Given the description of an element on the screen output the (x, y) to click on. 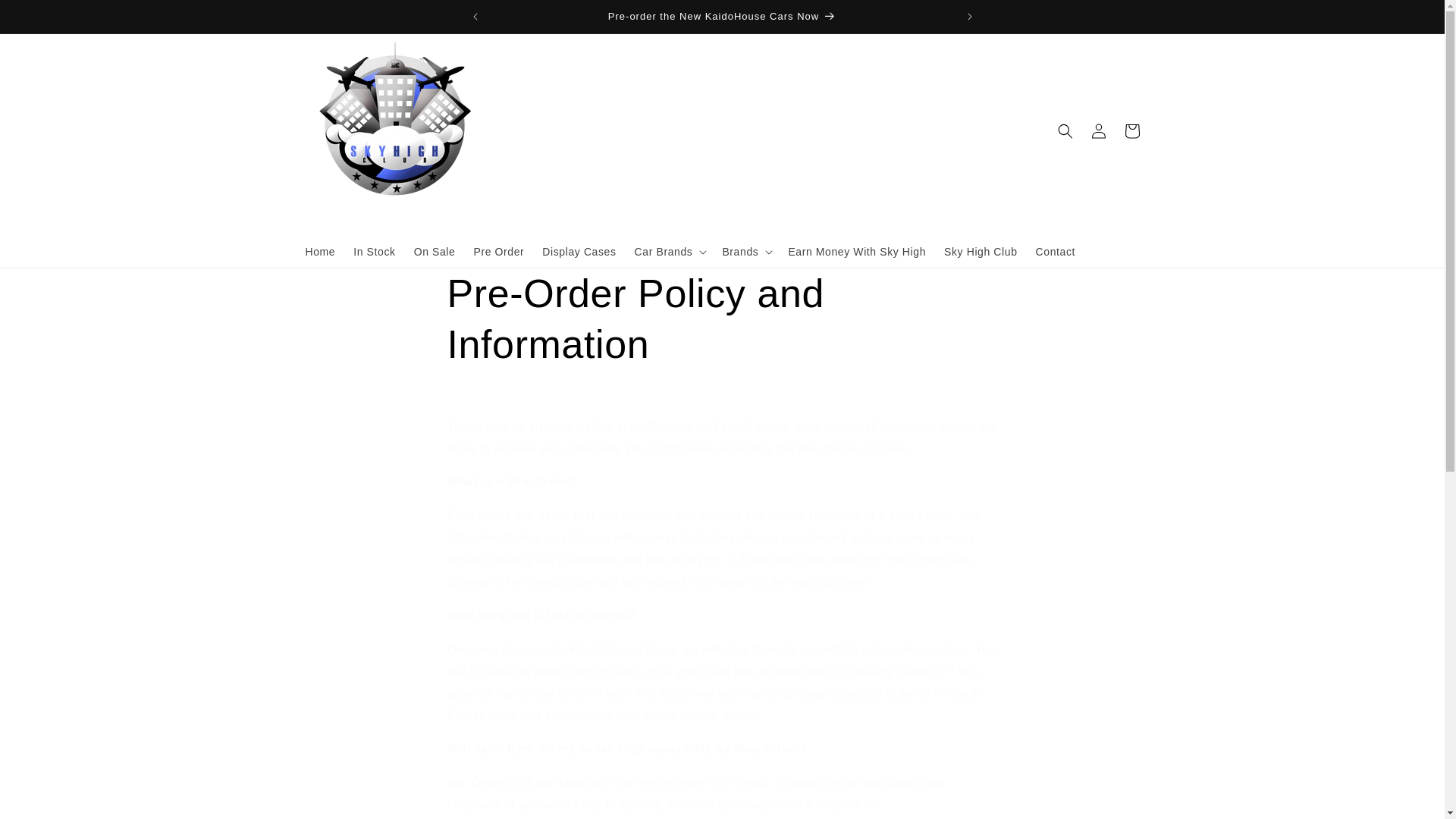
New Car Culture Set up for Pre-Order (1188, 17)
Pre-order the New KaidoHouse Cars Now (722, 17)
Skip to content (45, 17)
Pre-Order Policy and Information (721, 319)
